Given the description of an element on the screen output the (x, y) to click on. 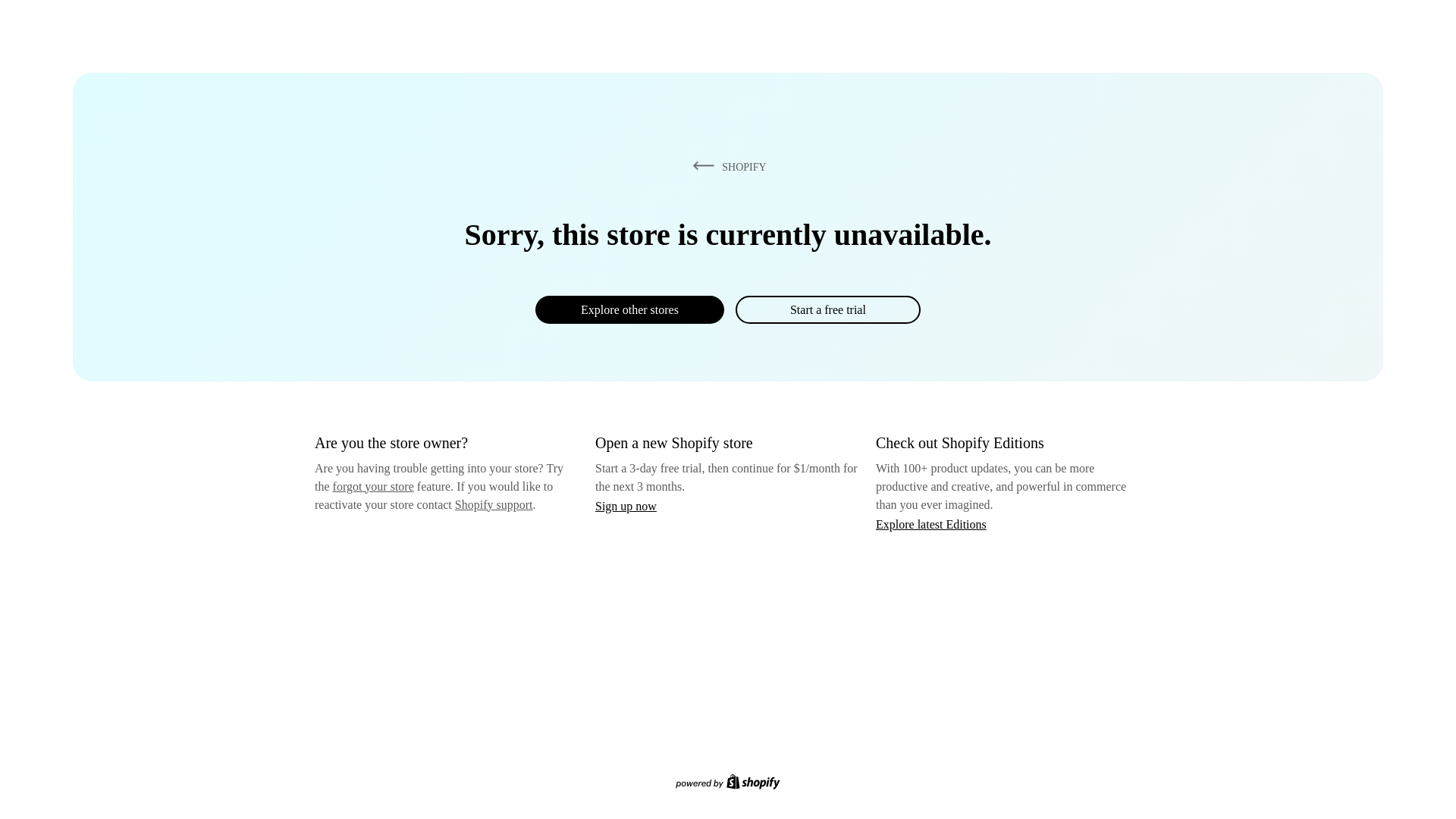
Explore latest Editions (931, 523)
SHOPIFY (726, 166)
Explore other stores (629, 309)
forgot your store (373, 486)
Start a free trial (827, 309)
Sign up now (625, 505)
Shopify support (493, 504)
